Given the description of an element on the screen output the (x, y) to click on. 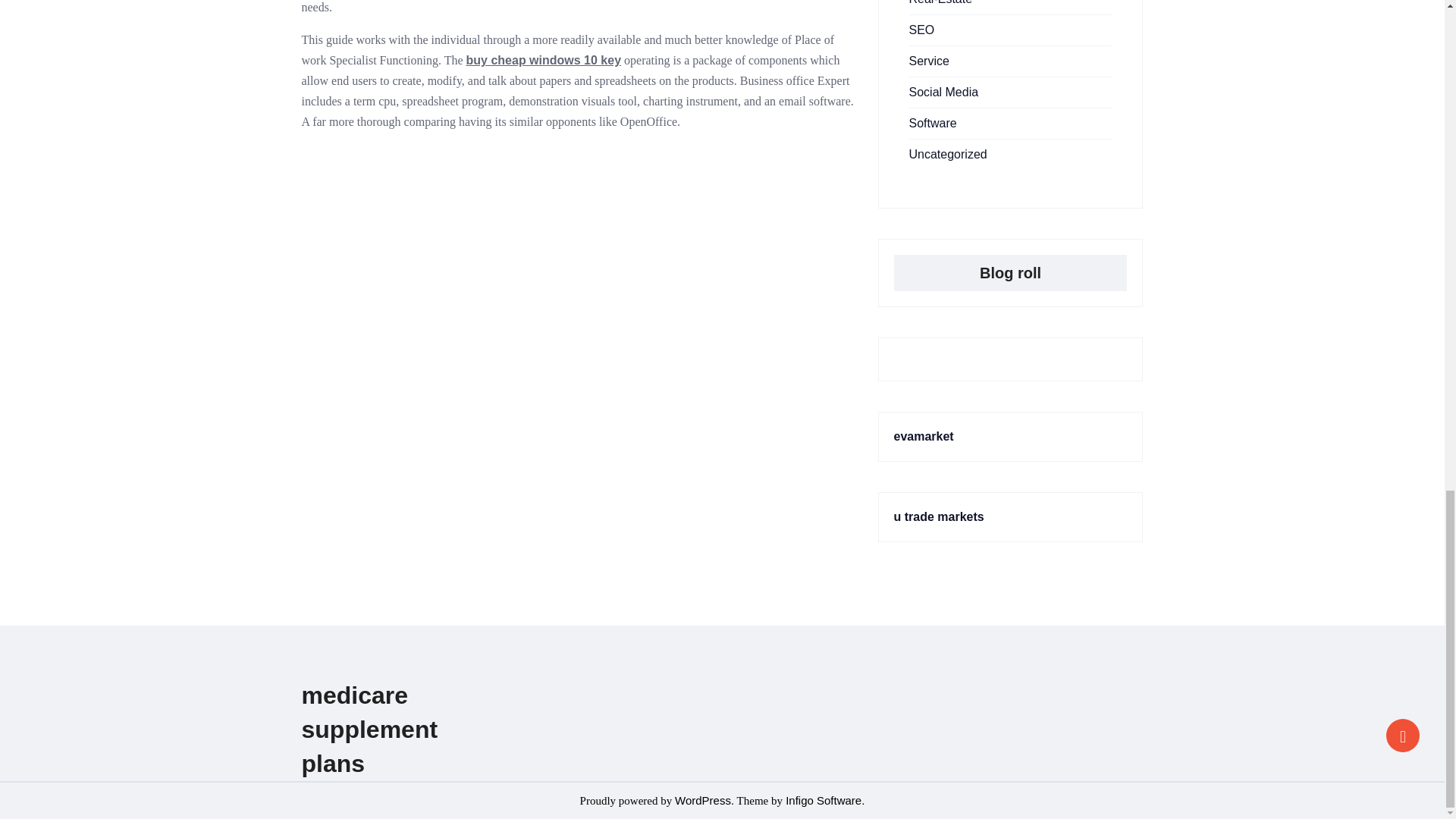
Real-Estate (940, 2)
Social Media (943, 91)
evamarket (923, 436)
SEO (921, 29)
u trade markets (938, 516)
Software (932, 123)
Uncategorized (947, 154)
Service (928, 60)
buy cheap windows 10 key (543, 60)
